Given the description of an element on the screen output the (x, y) to click on. 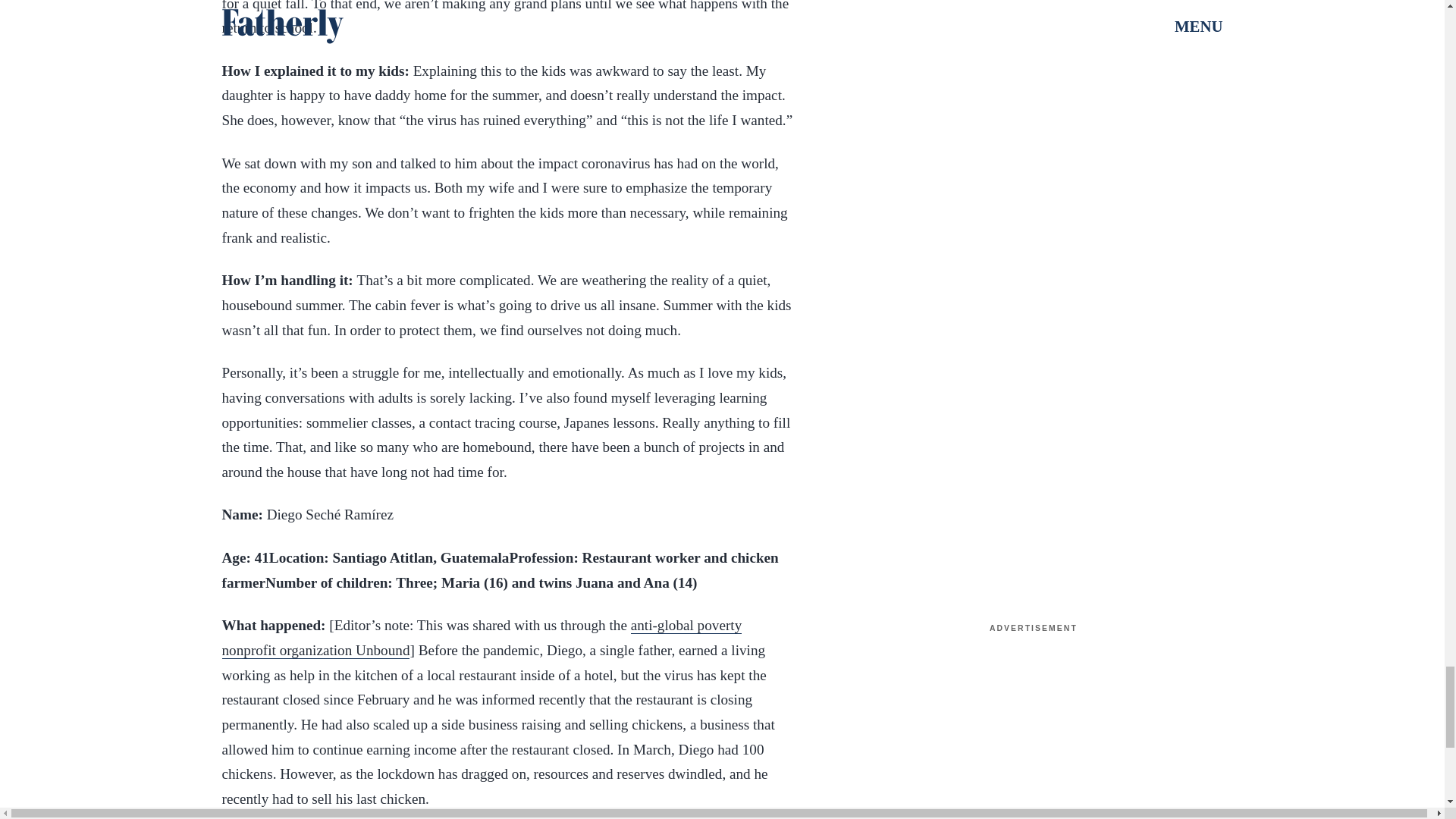
anti-global poverty nonprofit organization Unbound (481, 638)
